Given the description of an element on the screen output the (x, y) to click on. 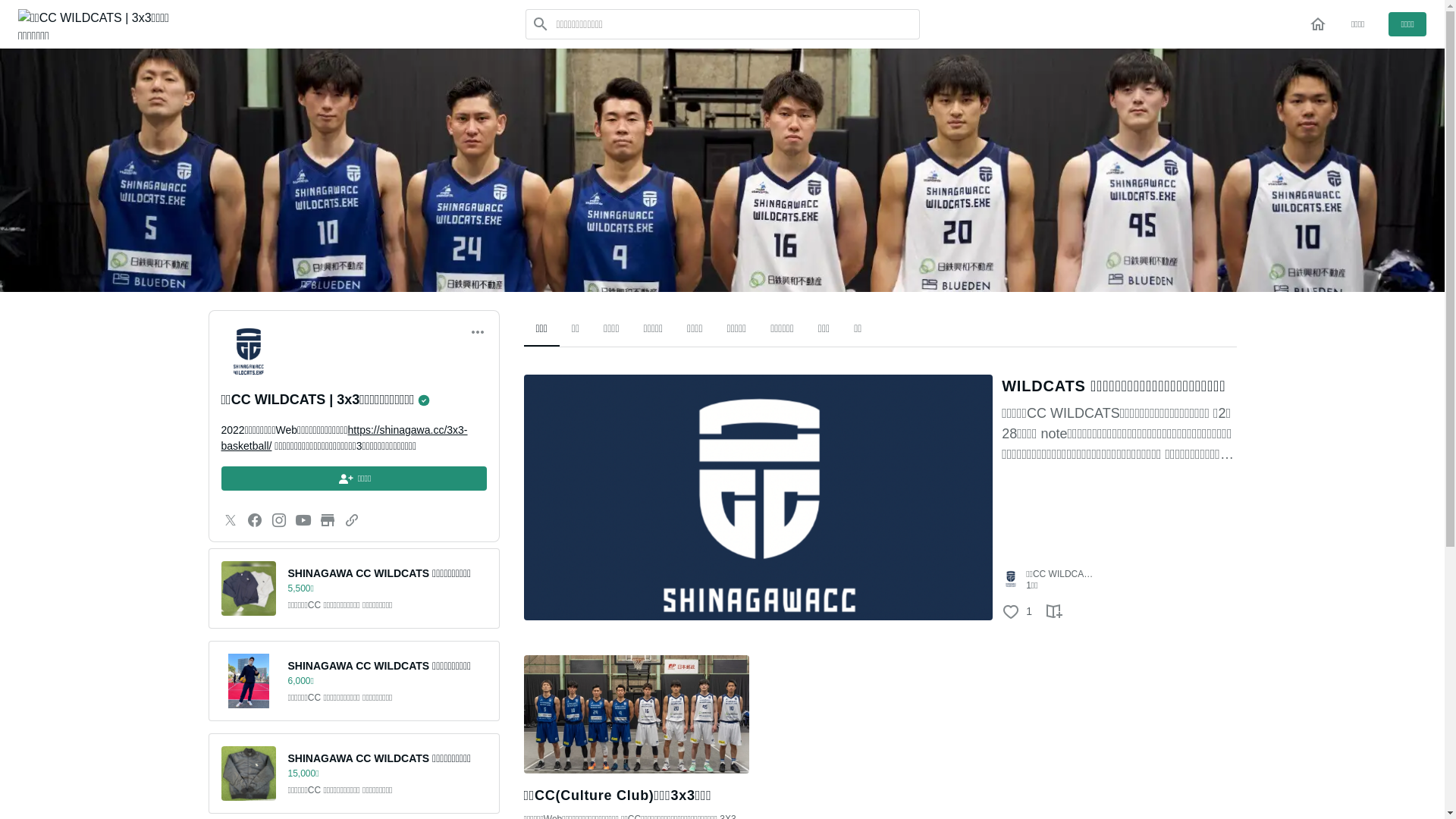
https://shinagawa.cc/3x3-basketball/ Element type: text (344, 437)
